Given the description of an element on the screen output the (x, y) to click on. 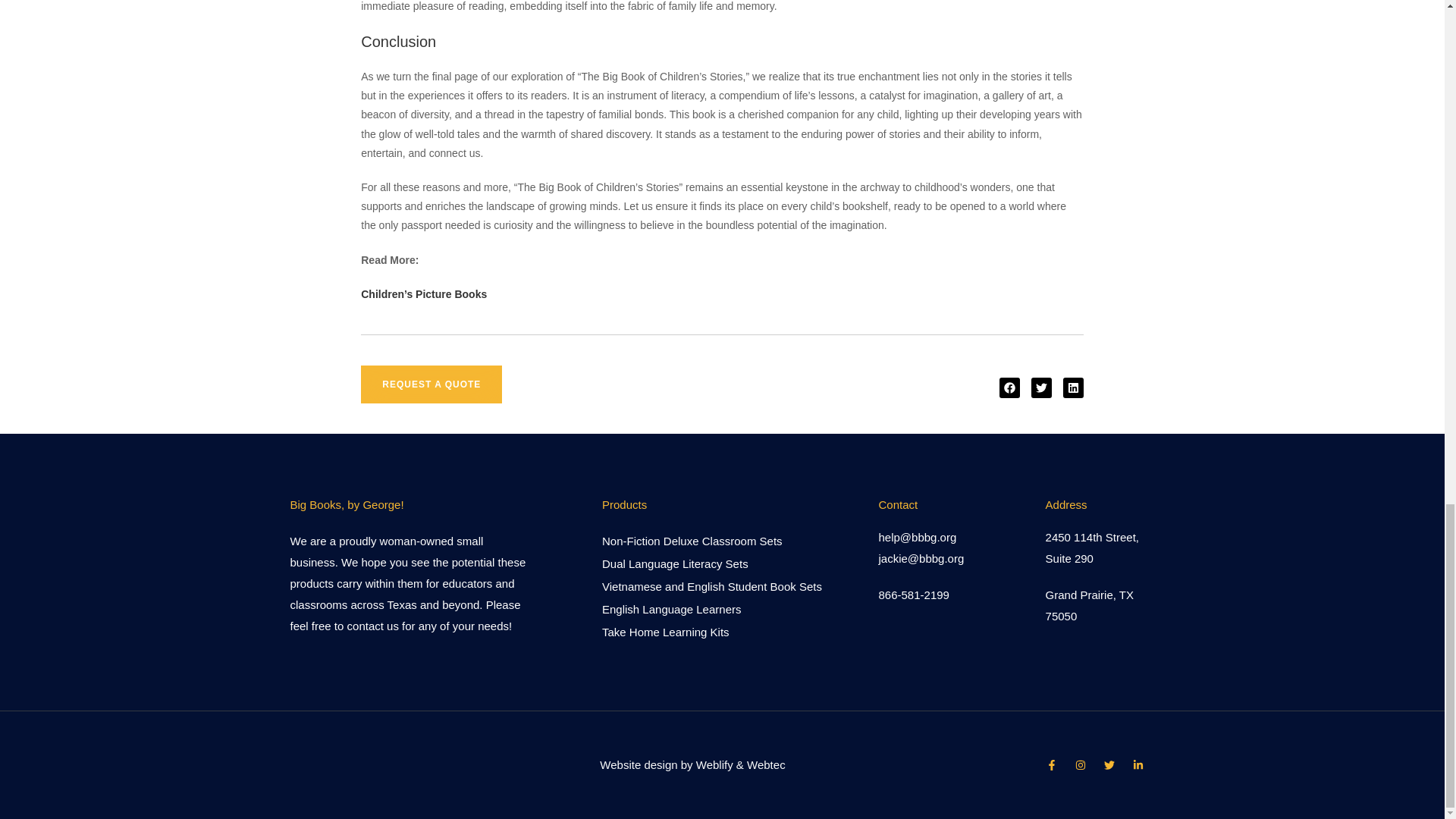
Vietnamese and English Student Book Sets (712, 586)
Dual Language Literacy Sets (712, 563)
Non-Fiction Deluxe Classroom Sets (712, 540)
866-581-2199 (913, 594)
Take Home Learning Kits (712, 631)
REQUEST A QUOTE (431, 384)
English Language Learners (712, 608)
